Given the description of an element on the screen output the (x, y) to click on. 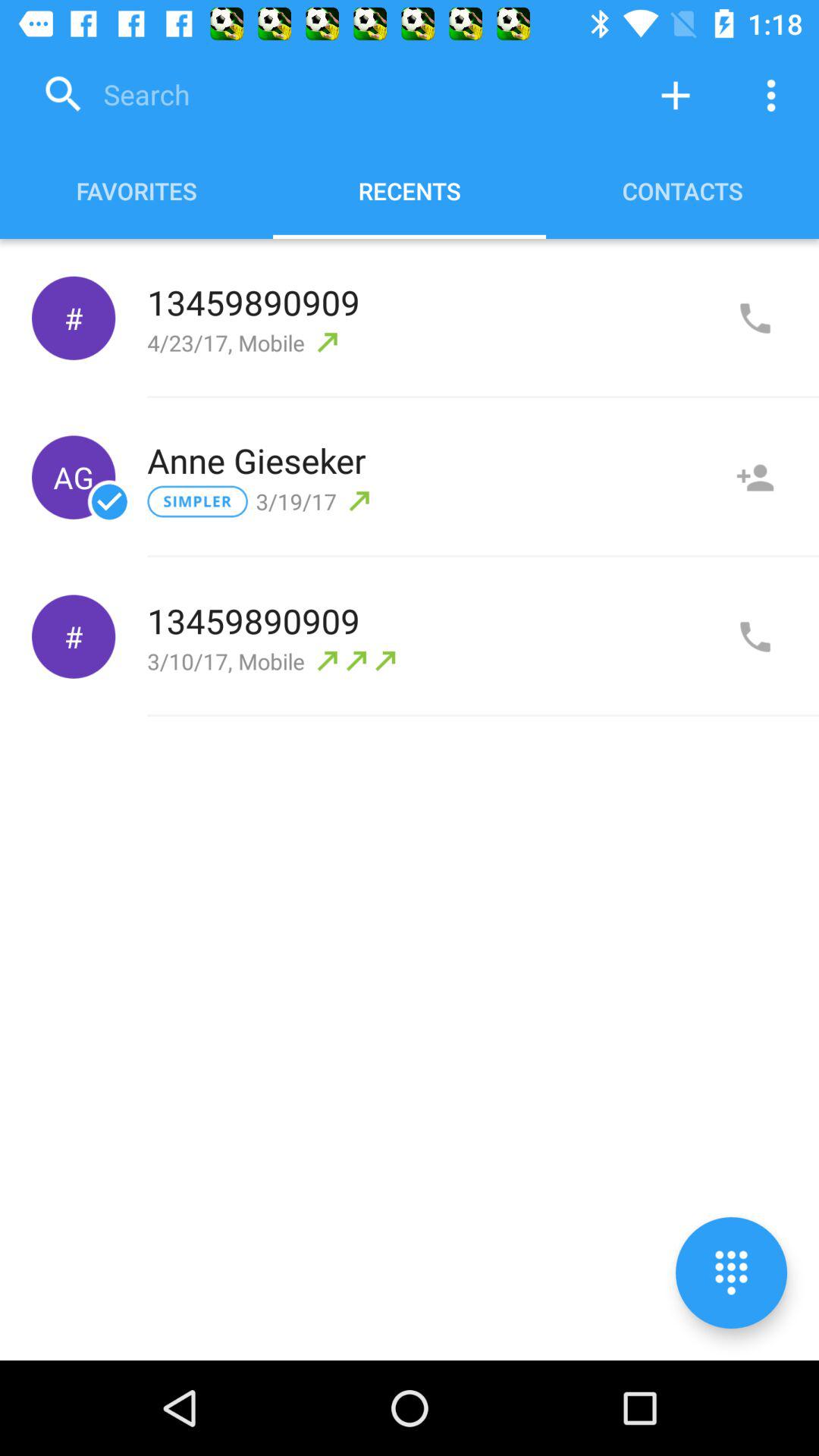
shows plus icon (675, 95)
